Given the description of an element on the screen output the (x, y) to click on. 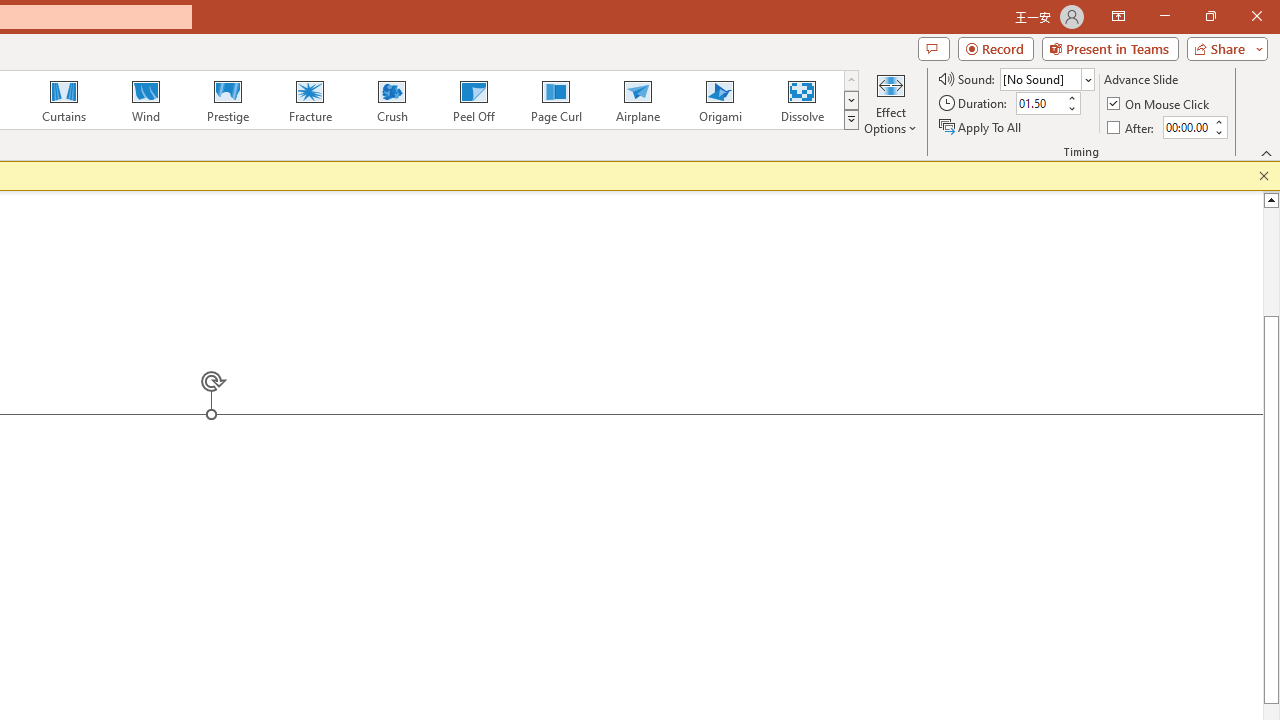
After (1131, 126)
Peel Off (473, 100)
Close this message (1263, 176)
Duration (1039, 103)
Sound (1046, 78)
Fracture (309, 100)
Origami (719, 100)
Crush (391, 100)
Effect Options (890, 102)
